Given the description of an element on the screen output the (x, y) to click on. 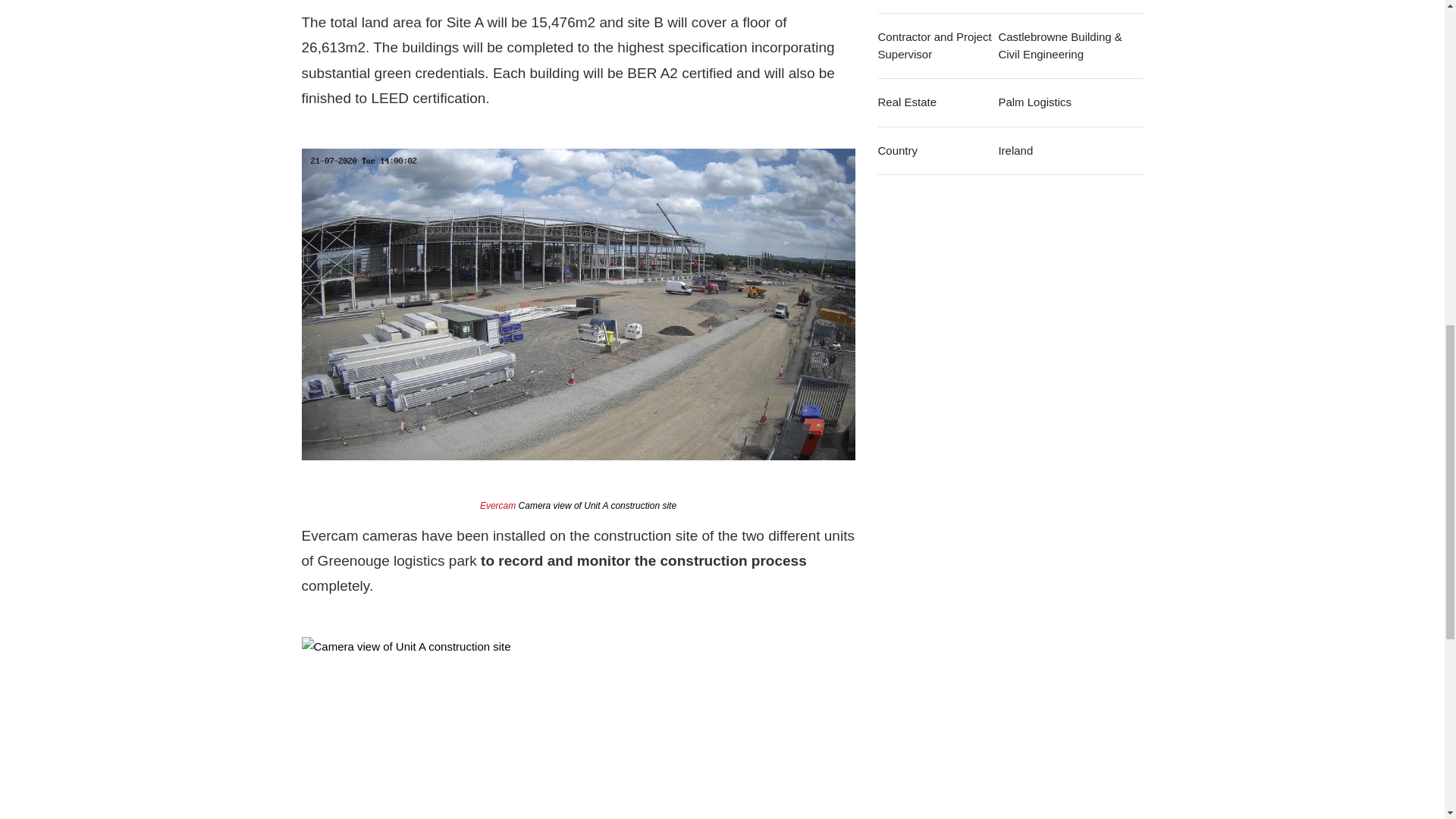
Camera view of Unit A construction site (578, 728)
